Given the description of an element on the screen output the (x, y) to click on. 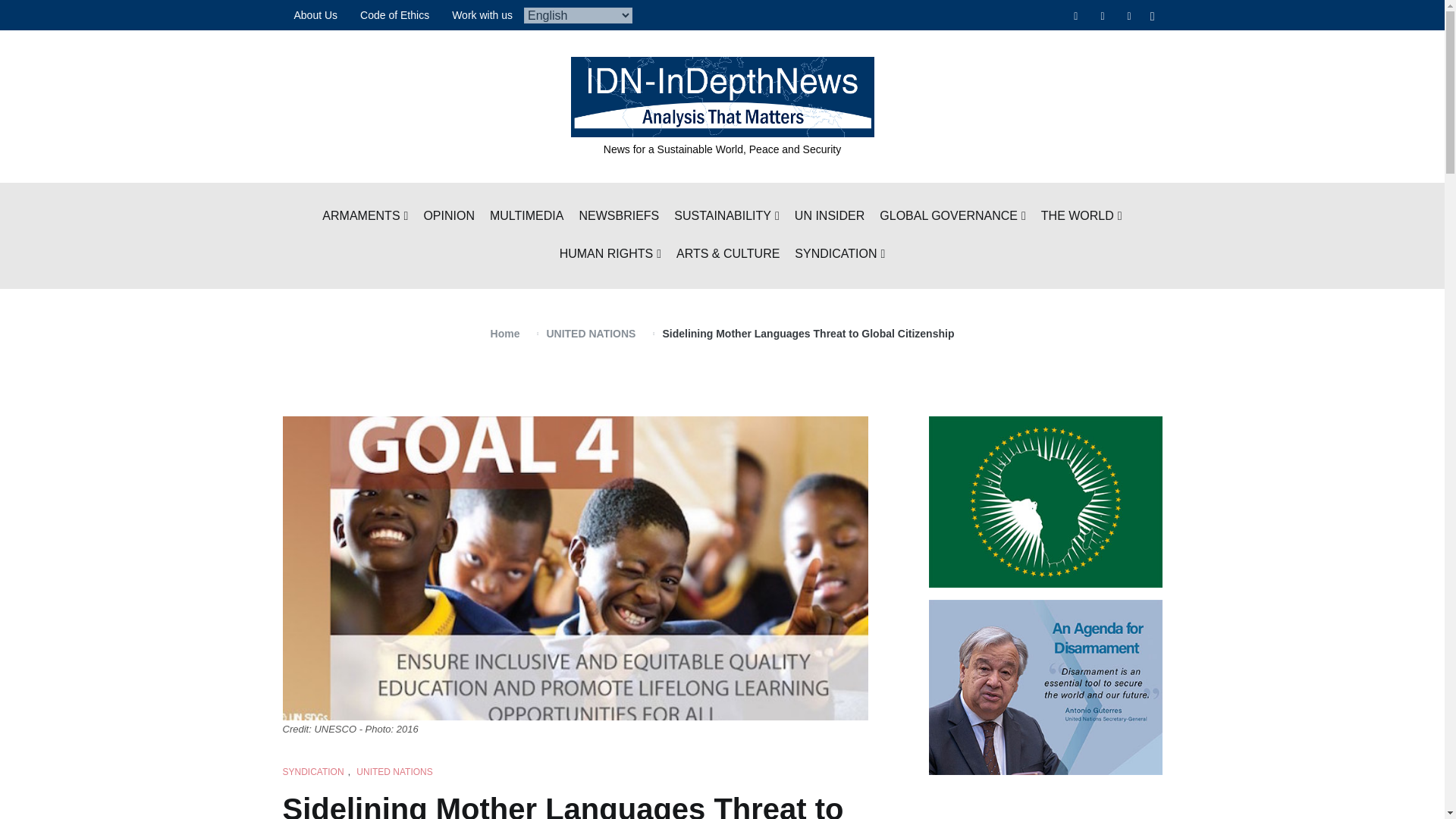
MULTIMEDIA (526, 216)
SUSTAINABILITY (726, 216)
Work with us (482, 14)
OPINION (448, 216)
GLOBAL GOVERNANCE (952, 216)
NEWSBRIEFS (618, 216)
ARMAMENTS (364, 216)
Code of Ethics (395, 14)
About Us (315, 14)
UN INSIDER (829, 216)
